Given the description of an element on the screen output the (x, y) to click on. 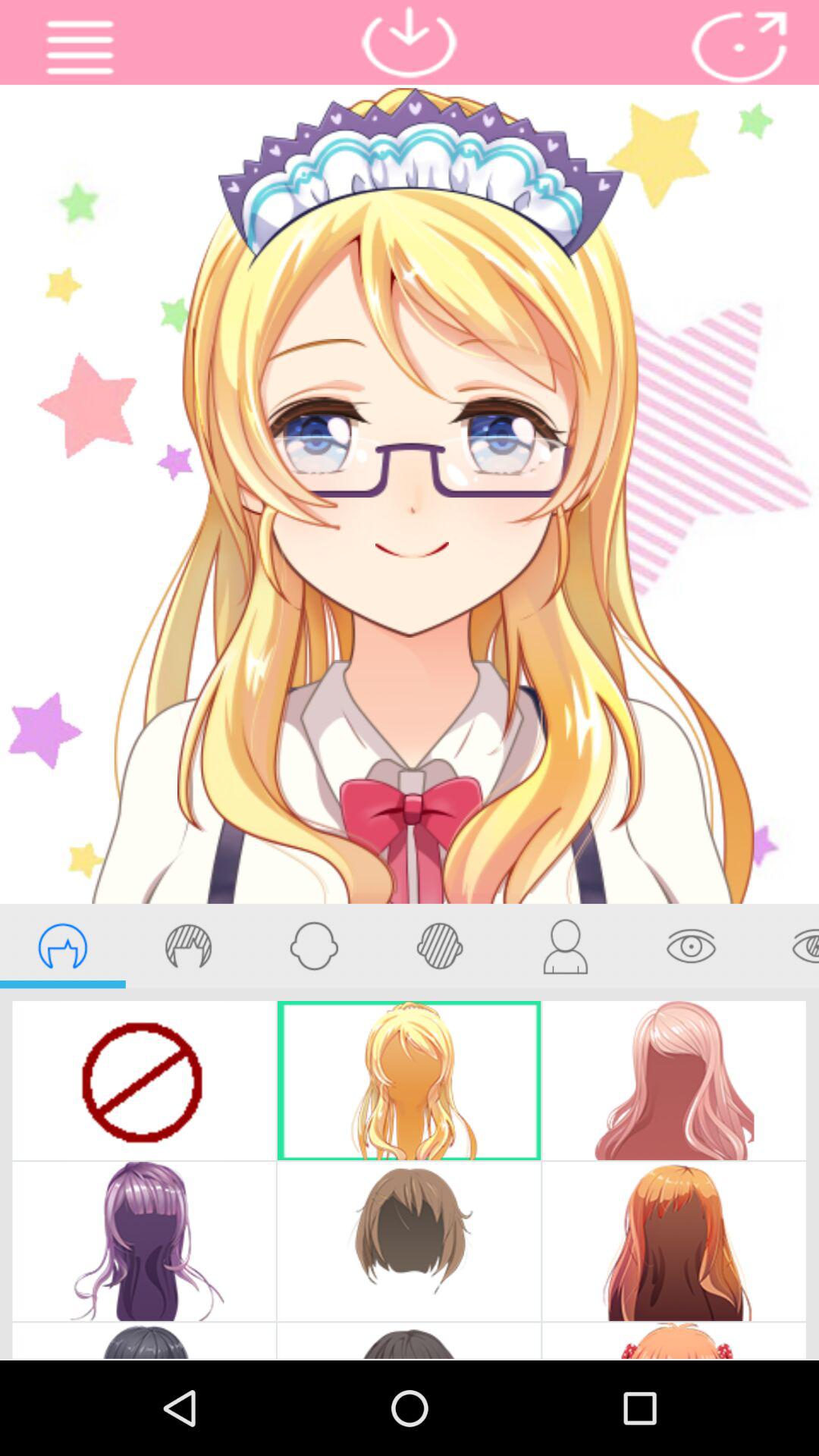
change eyes (786, 945)
